Given the description of an element on the screen output the (x, y) to click on. 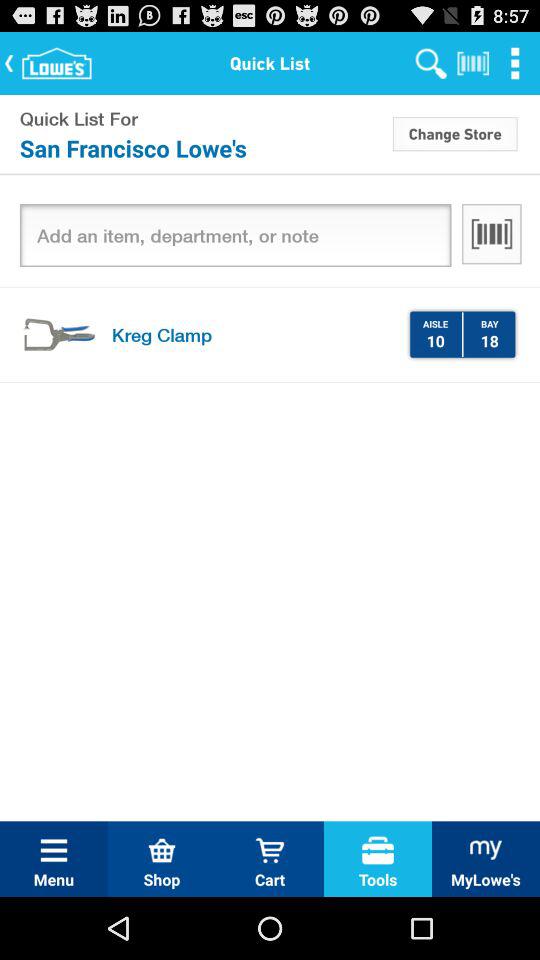
turn off icon next to aisle app (462, 333)
